Given the description of an element on the screen output the (x, y) to click on. 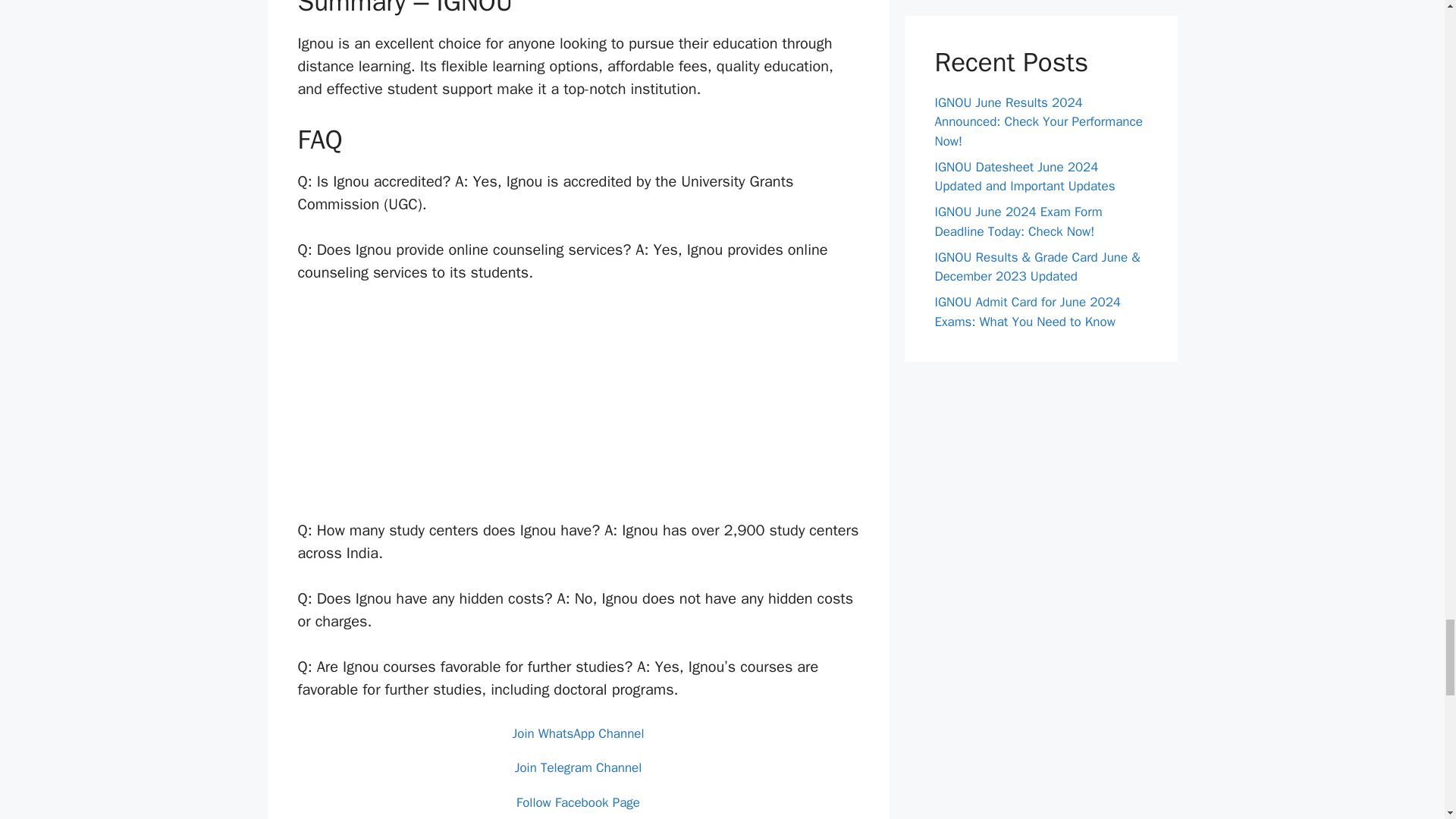
Join WhatsApp Channel (577, 733)
Follow Facebook Page (578, 802)
Join Telegram Channel (578, 767)
